Given the description of an element on the screen output the (x, y) to click on. 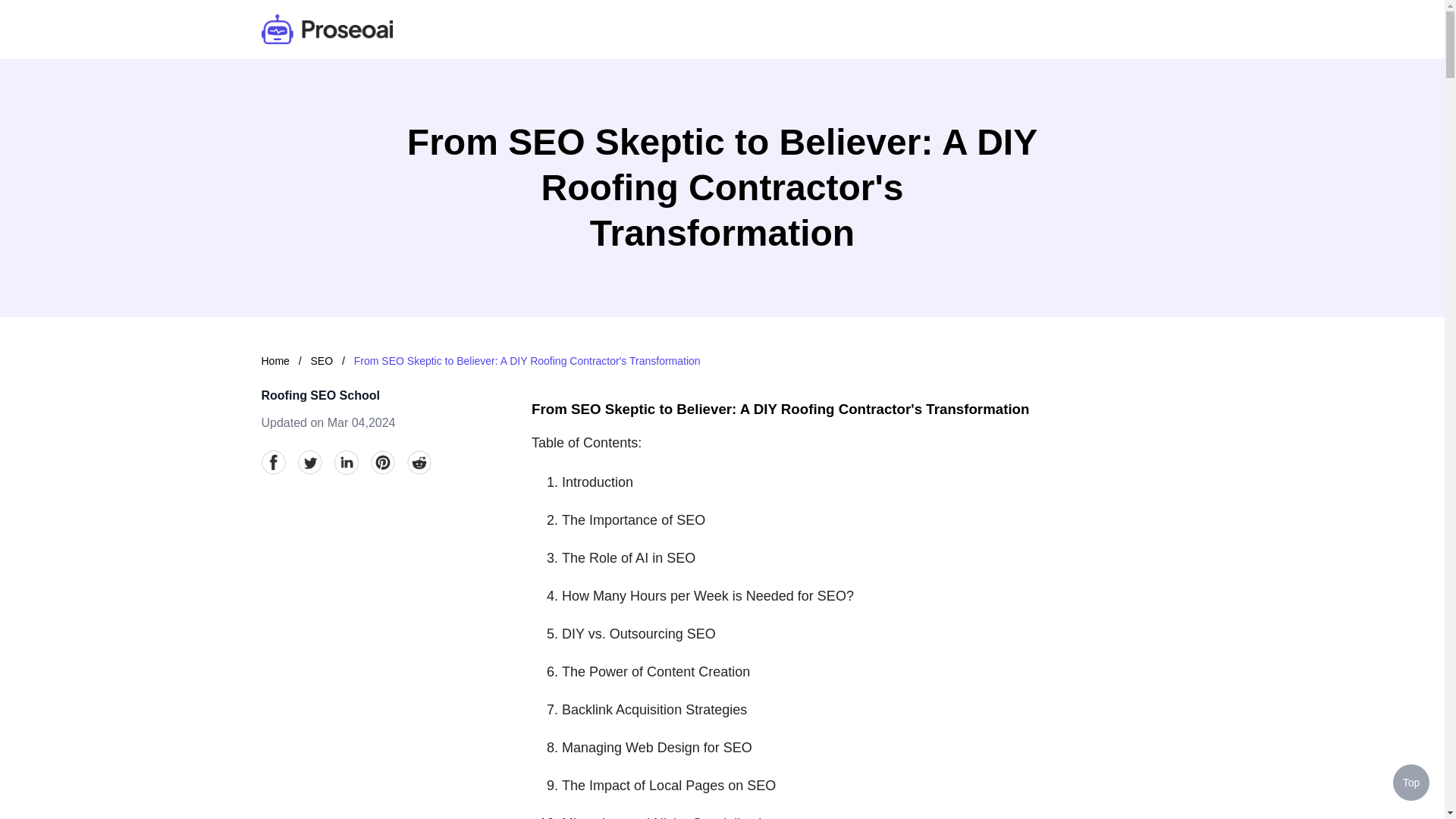
Home (274, 360)
linkedin (345, 462)
pinterest (381, 462)
Twitter (309, 462)
reddit (418, 462)
Roofing SEO School (319, 395)
SEO (323, 360)
facebook (272, 462)
